Given the description of an element on the screen output the (x, y) to click on. 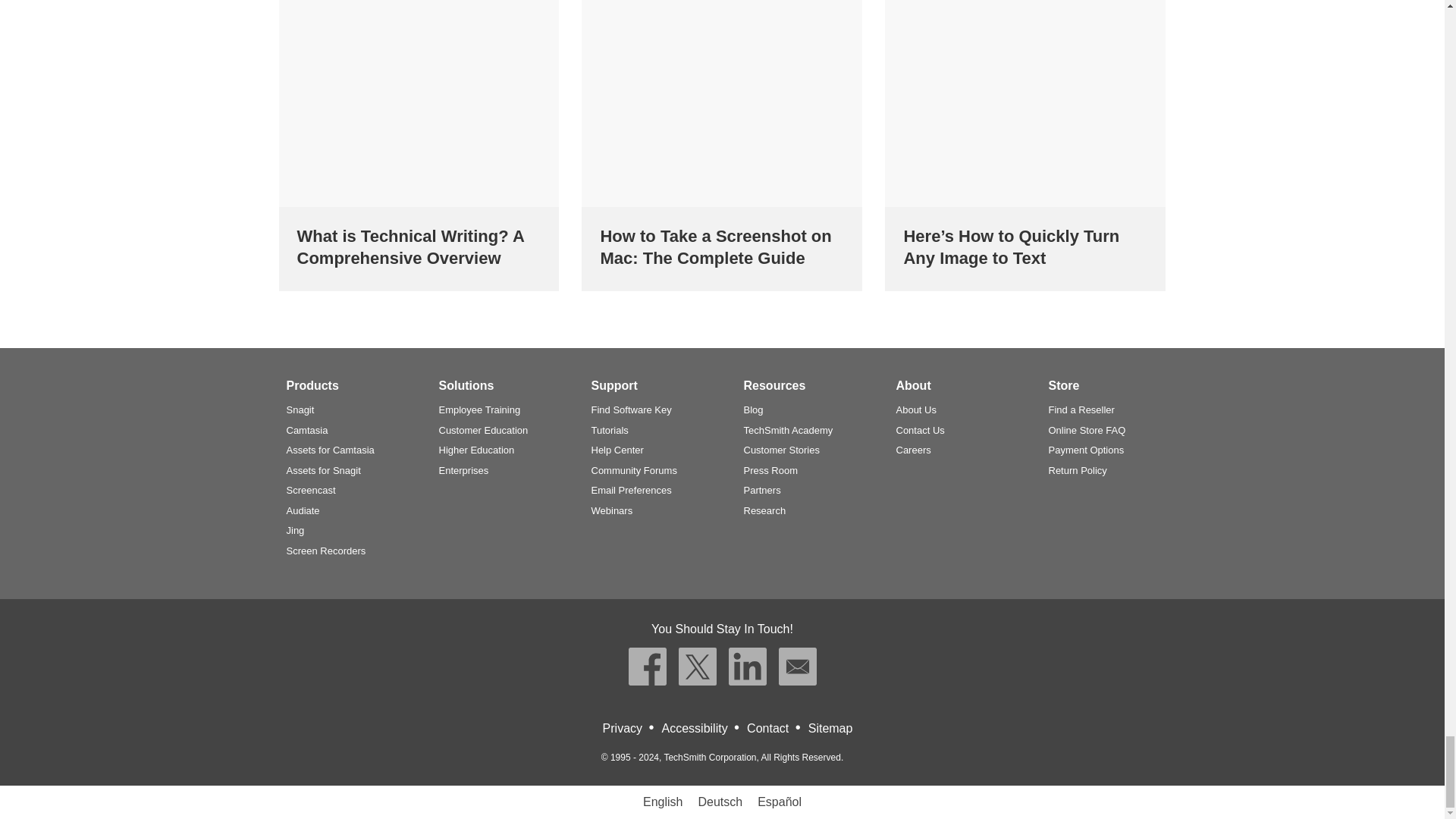
Get tips, news, and updates via Facebook (646, 666)
Stay current on TechSmith news via LinkedIn (746, 666)
Get tips, news, and updates via Twitter (697, 666)
Get tips and news every month in your email inbox (796, 666)
